Given the description of an element on the screen output the (x, y) to click on. 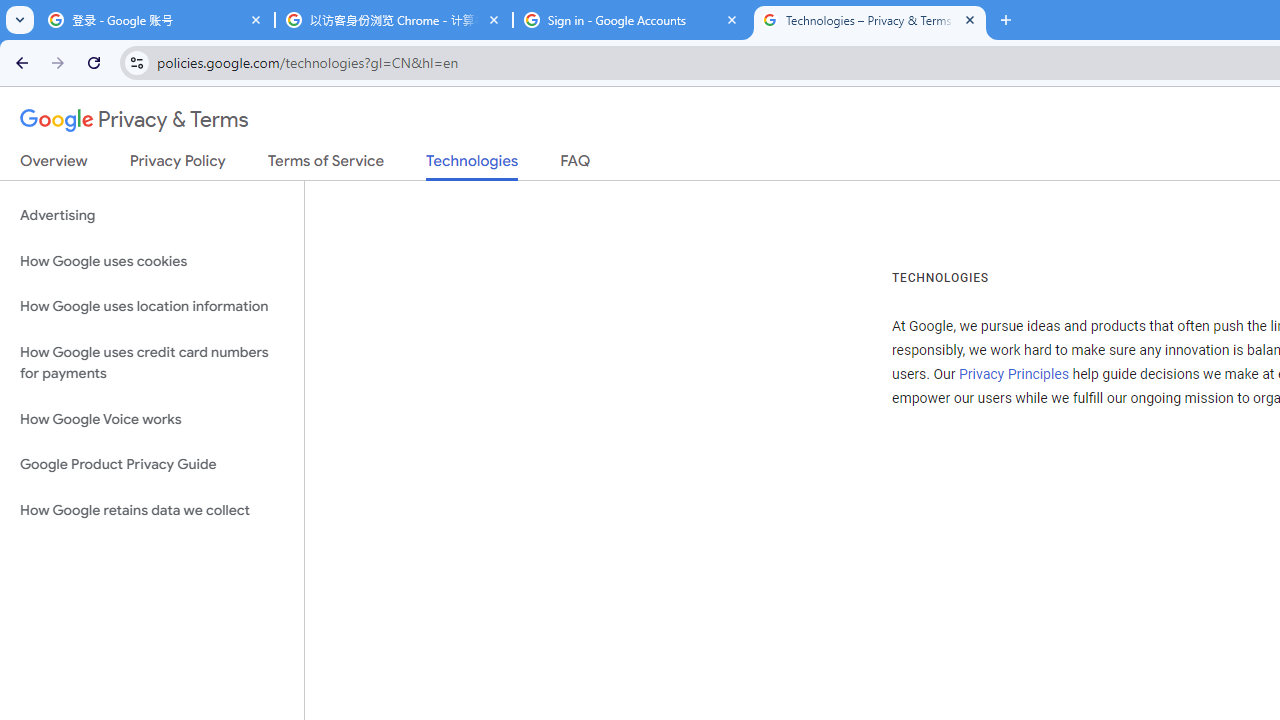
Sign in - Google Accounts (632, 20)
How Google uses location information (152, 306)
How Google Voice works (152, 419)
How Google retains data we collect (152, 510)
